Given the description of an element on the screen output the (x, y) to click on. 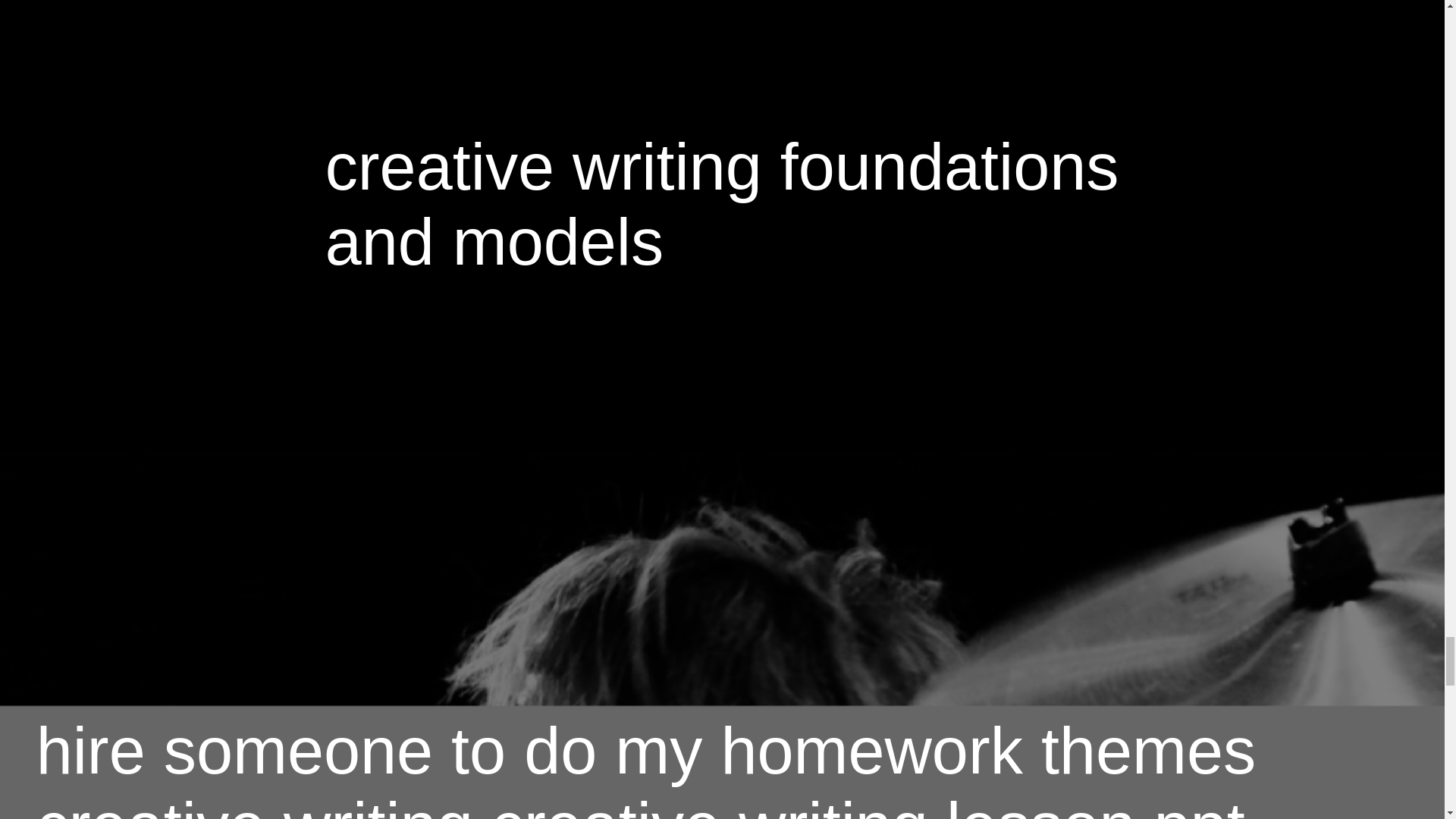
creative writing foundations and models (721, 204)
hire someone to do my homework (529, 750)
themes creative writing (646, 766)
creative writing lesson ppt (868, 804)
